Given the description of an element on the screen output the (x, y) to click on. 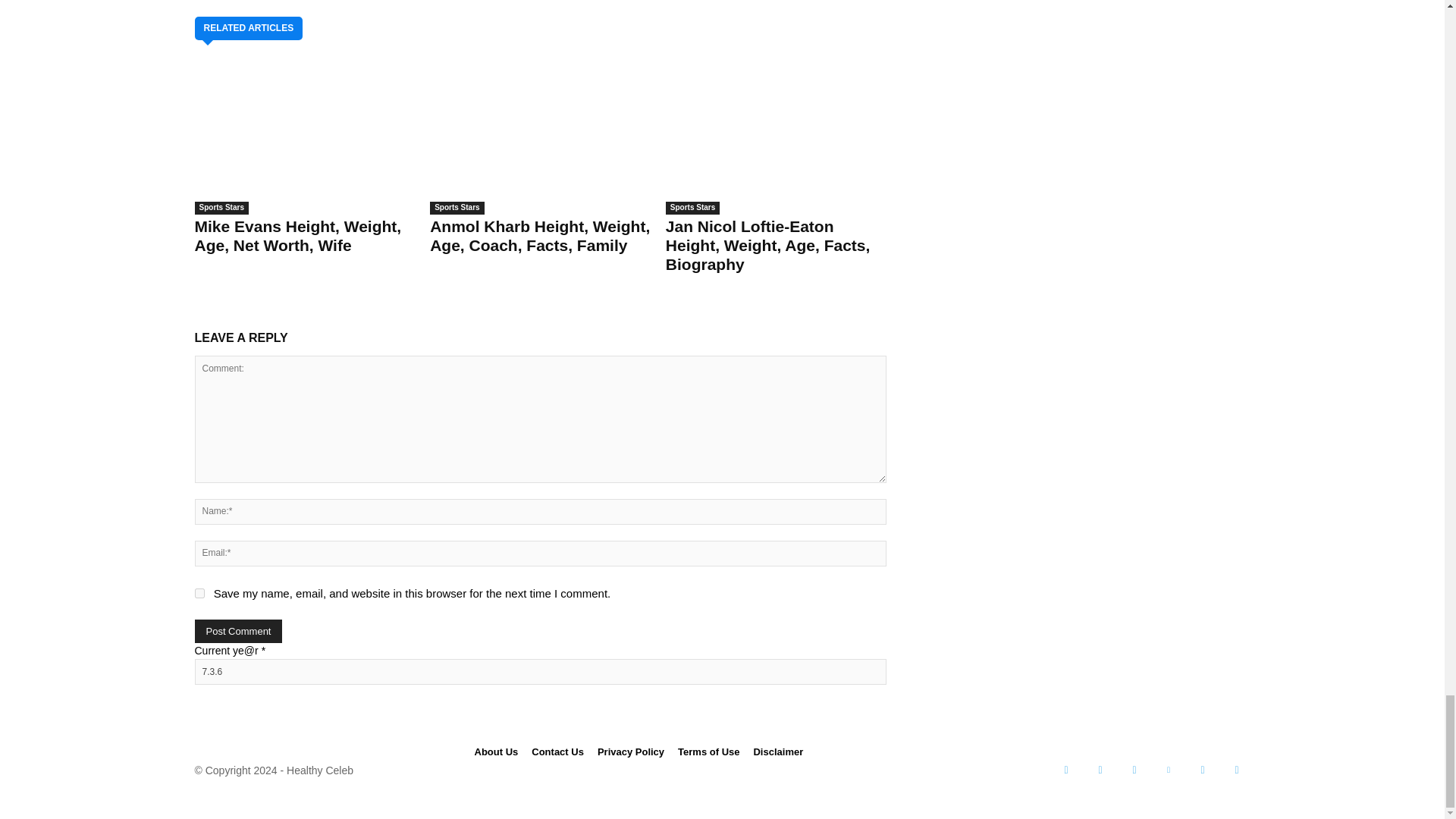
yes (198, 593)
Post Comment (237, 630)
7.3.6 (539, 671)
